Given the description of an element on the screen output the (x, y) to click on. 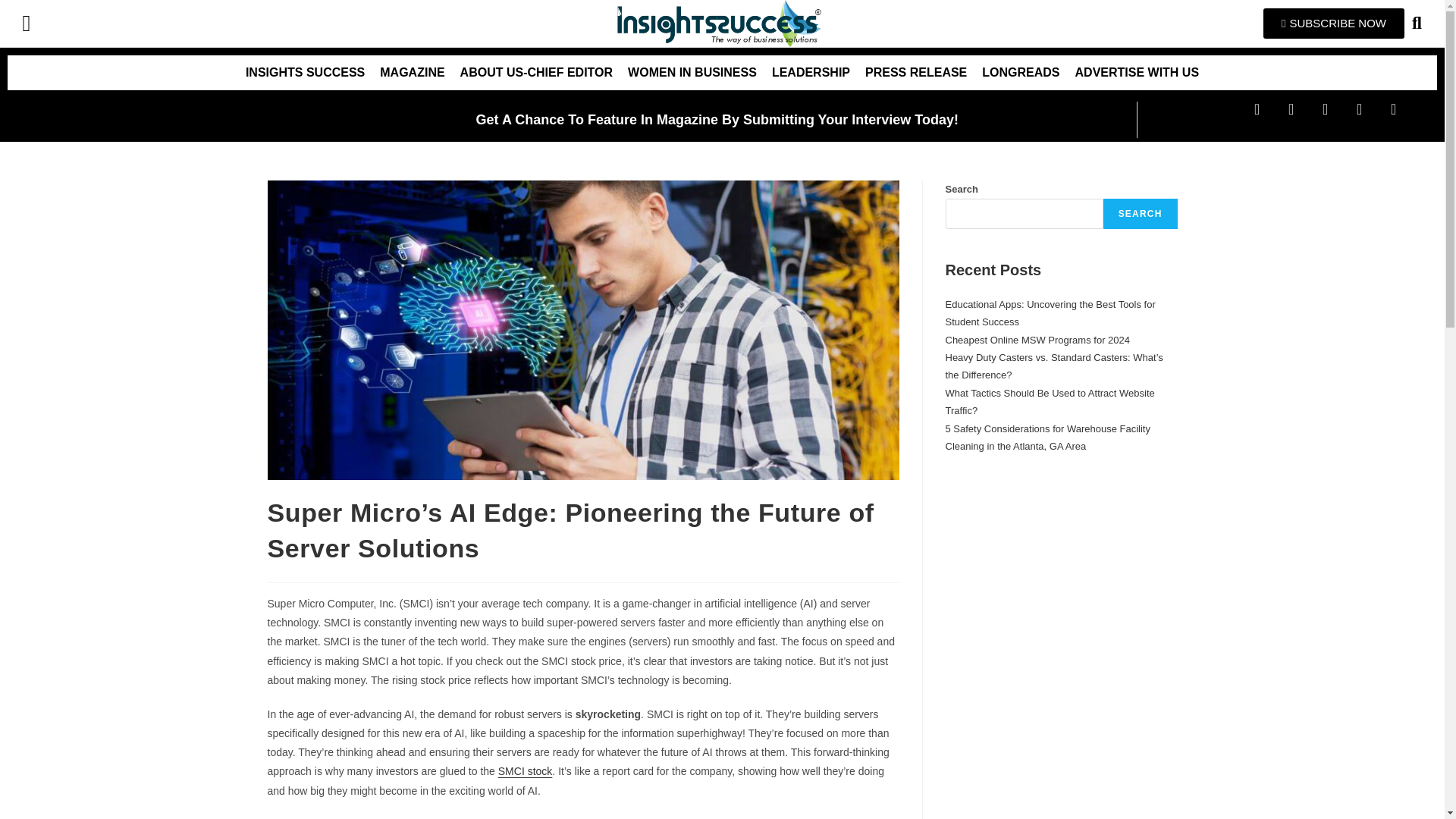
SUBSCRIBE NOW (1334, 23)
SMCI stock (525, 770)
LONGREADS (1020, 72)
ADVERTISE WITH US (1137, 72)
ERISA: Definition, History, Purpose, and More (1044, 374)
LEADERSHIP (810, 72)
Safeguarding Your Skin in the Summer Sun (1039, 304)
Positive Psychology in the Workplace (1026, 321)
WOMEN IN BUSINESS (692, 72)
INSIGHTS SUCCESS (305, 72)
MAGAZINE (411, 72)
PRESS RELEASE (915, 72)
